Given the description of an element on the screen output the (x, y) to click on. 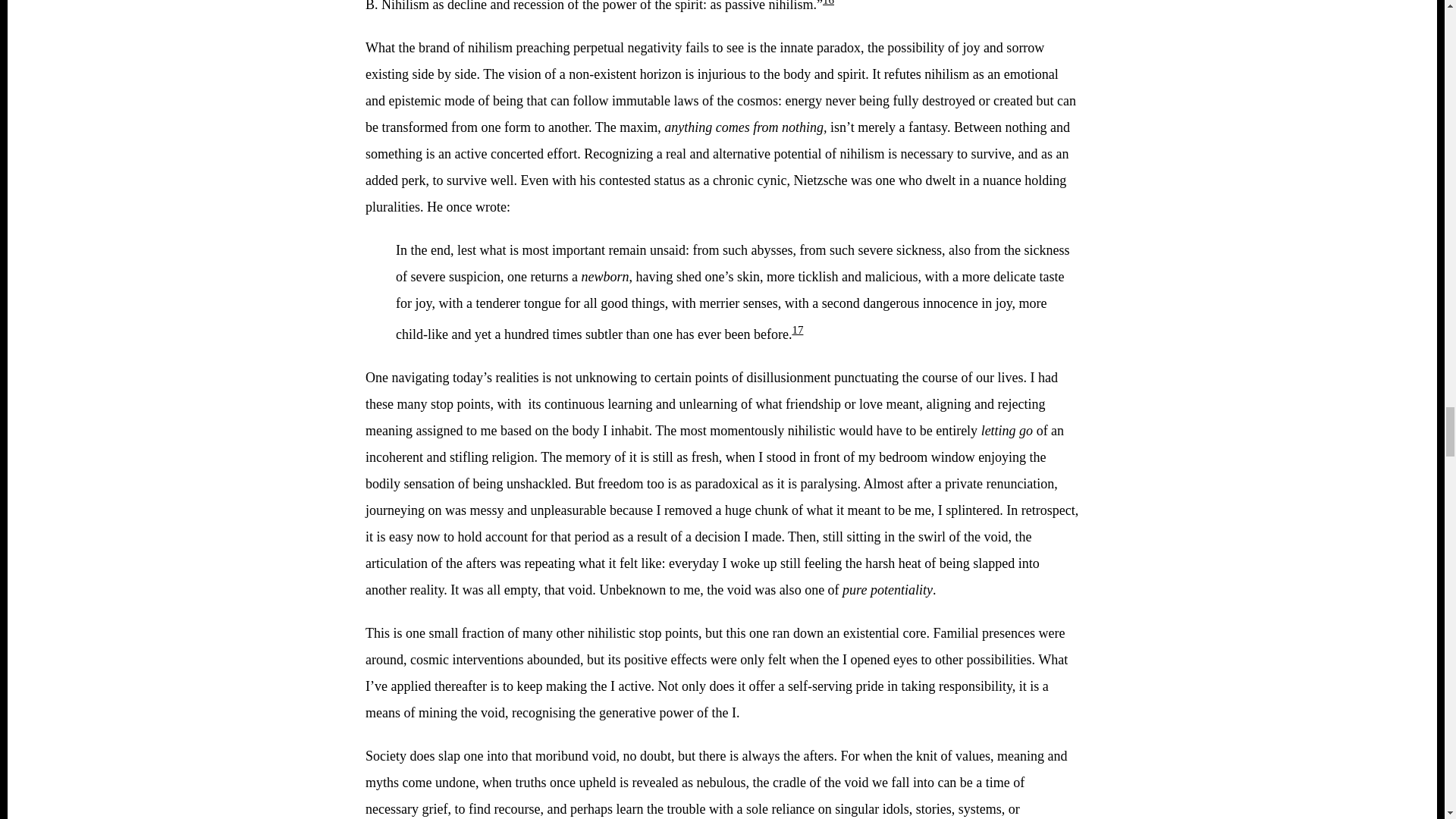
16 (828, 2)
Ibid.,50 (828, 2)
17 (797, 329)
